Given the description of an element on the screen output the (x, y) to click on. 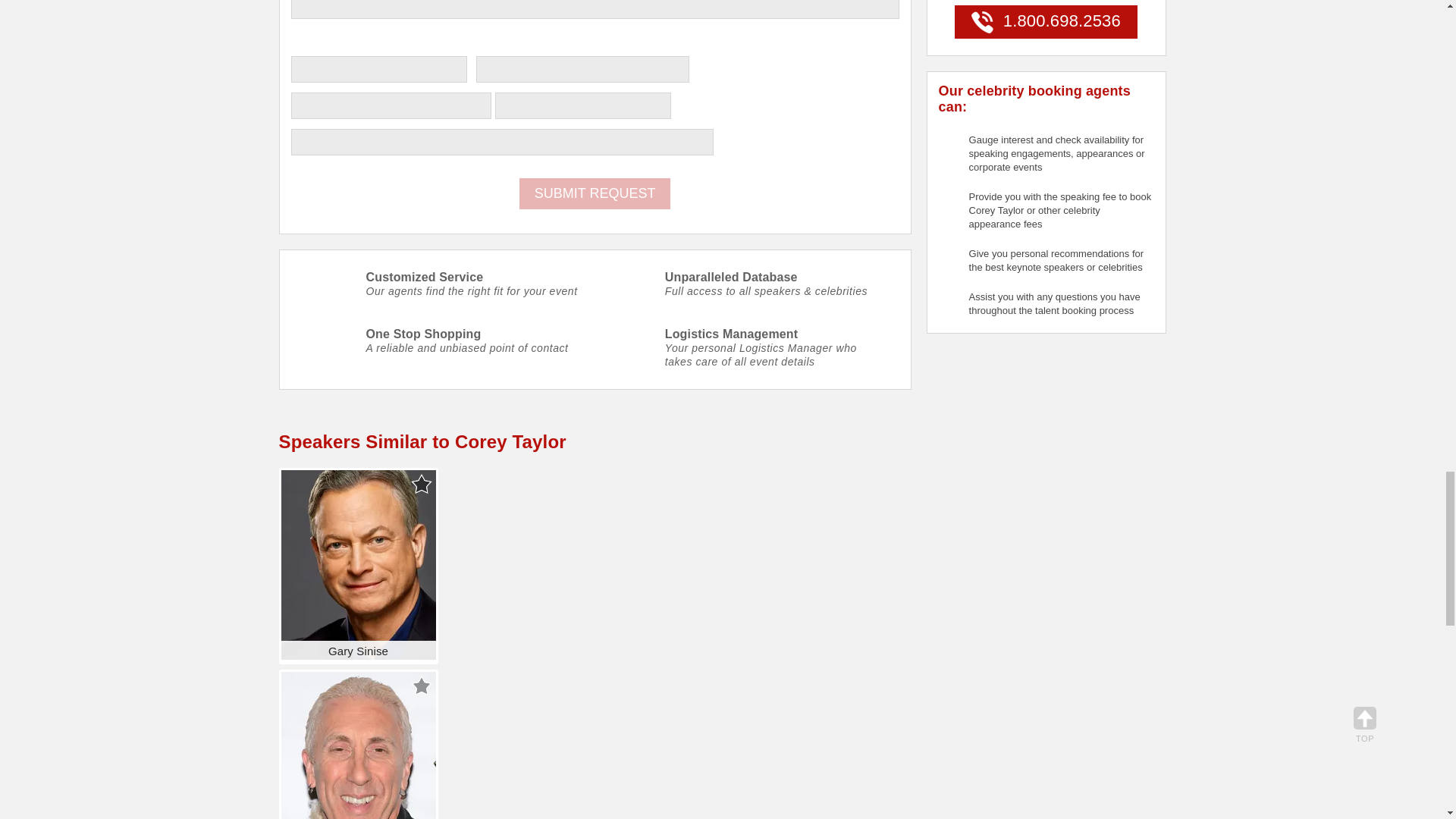
Dee Snider (358, 745)
SUBMIT REQUEST (595, 193)
